Given the description of an element on the screen output the (x, y) to click on. 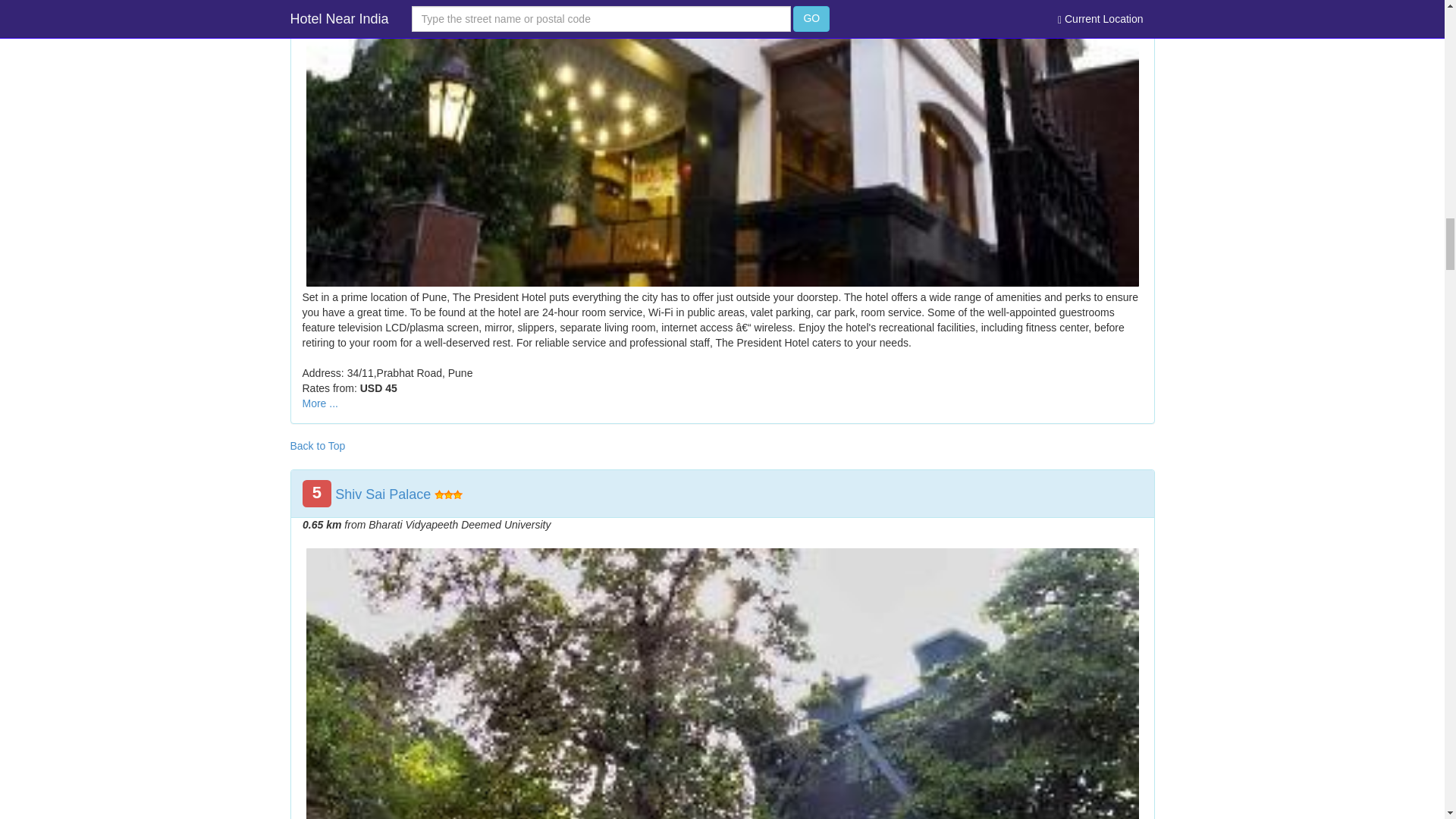
Back to Top (317, 445)
Shiv Sai Palace (382, 494)
More ... (319, 403)
